Given the description of an element on the screen output the (x, y) to click on. 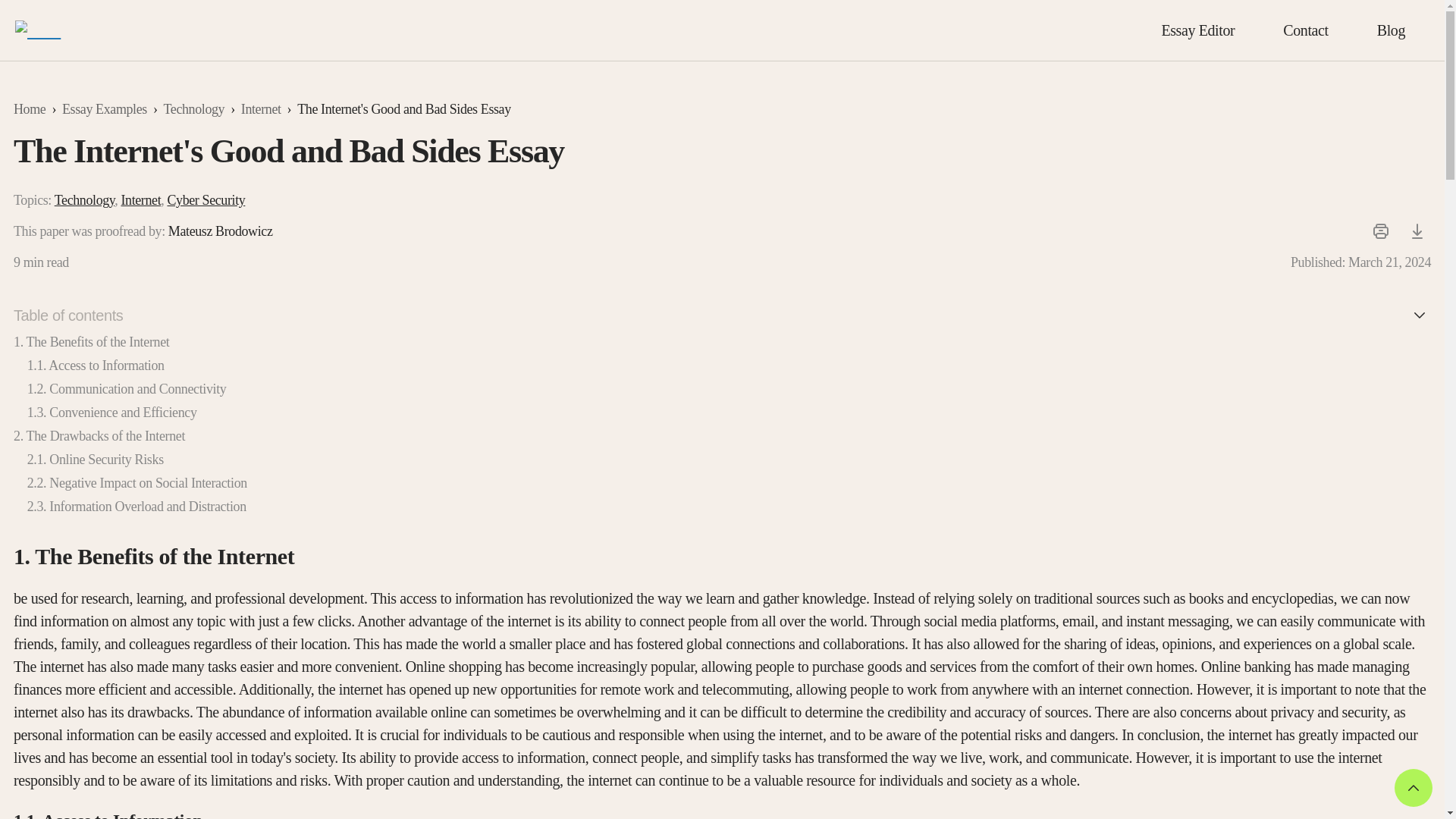
1.2. Communication and Connectivity (127, 388)
Internet (261, 108)
Essay Examples (104, 108)
2.3. Information Overload and Distraction (136, 506)
Internet (140, 200)
1. The Benefits of the Internet (90, 341)
2.1. Online Security Risks (95, 459)
Technology (85, 200)
Essay Editor (1197, 30)
Blog (1390, 30)
